Given the description of an element on the screen output the (x, y) to click on. 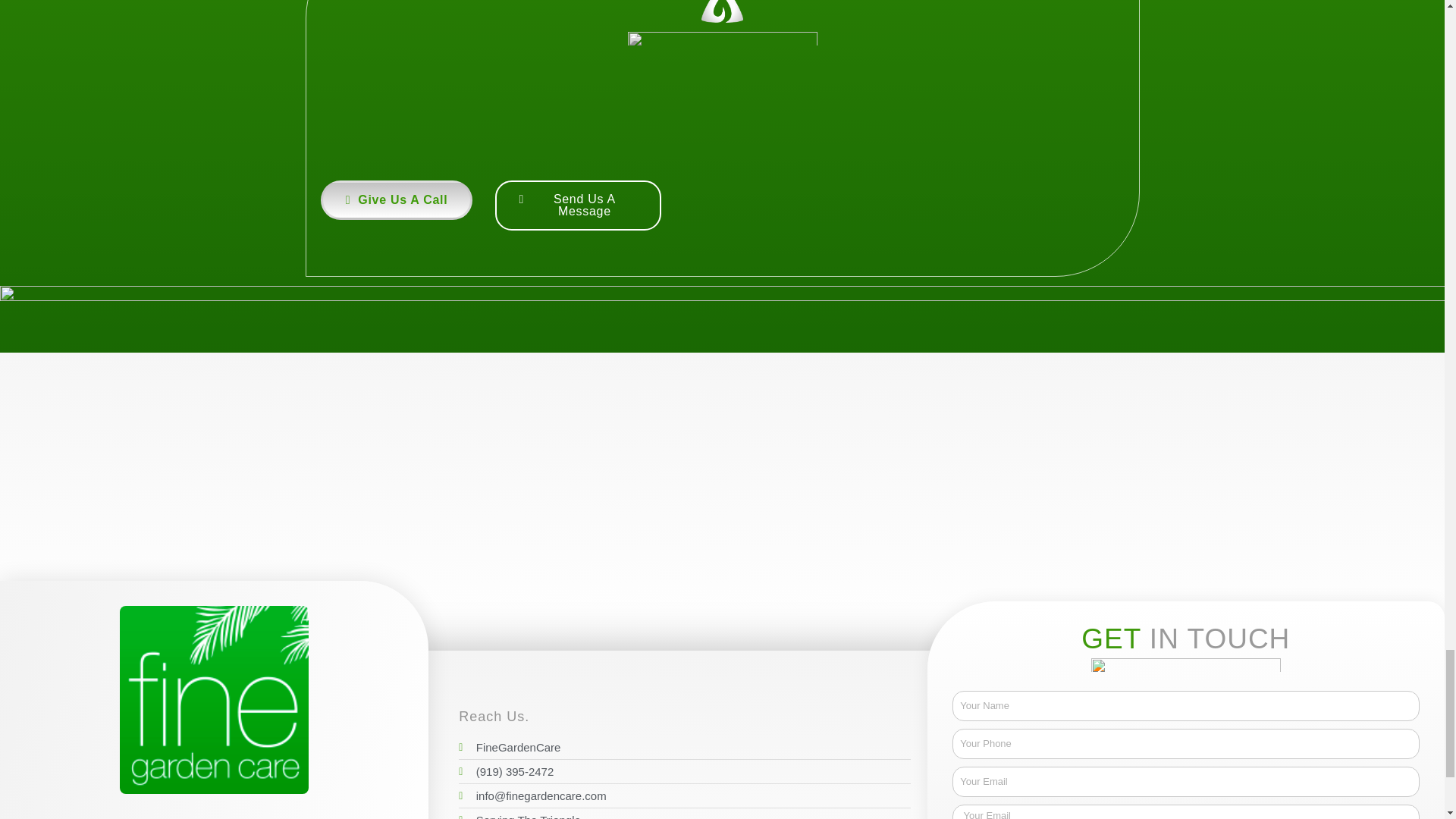
Send Us A Message (578, 205)
FineGardenCare (684, 747)
Give Us A Call (396, 200)
